Given the description of an element on the screen output the (x, y) to click on. 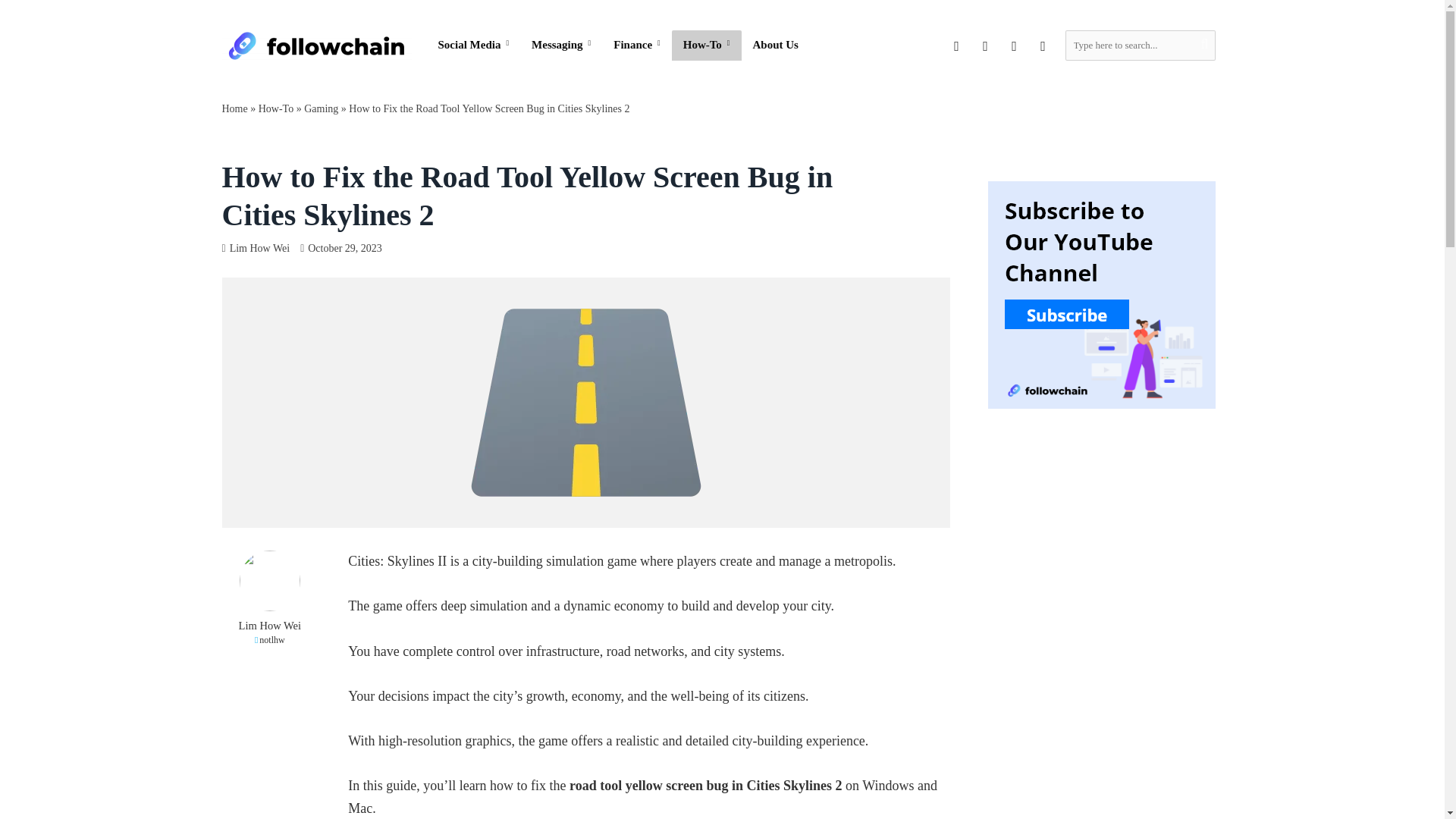
How-To (706, 45)
About Us (775, 45)
Messaging (560, 45)
Finance (636, 45)
Social Media (472, 45)
